Given the description of an element on the screen output the (x, y) to click on. 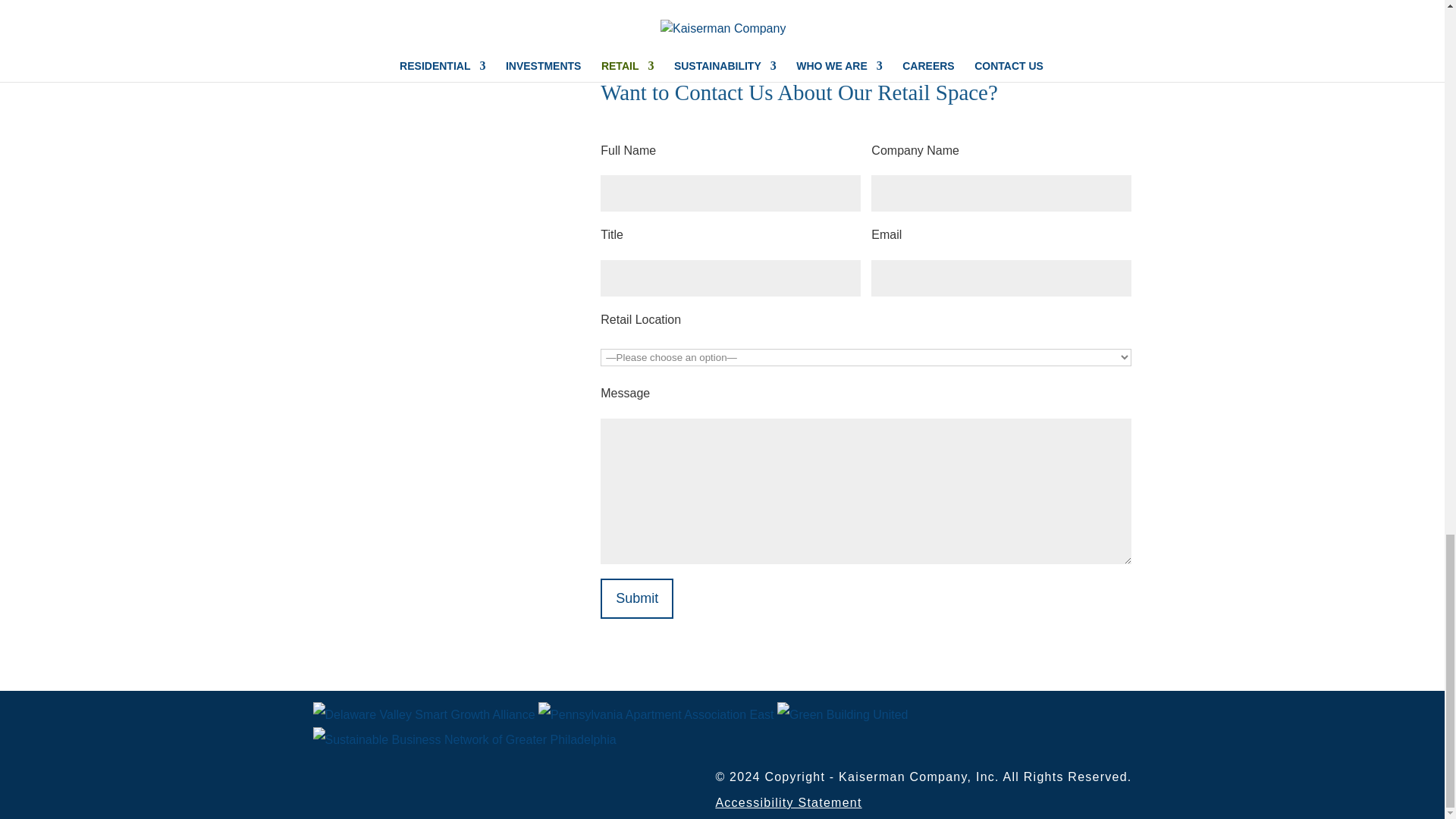
Submit (635, 598)
Accessibility Statement (787, 802)
Submit (635, 598)
